Given the description of an element on the screen output the (x, y) to click on. 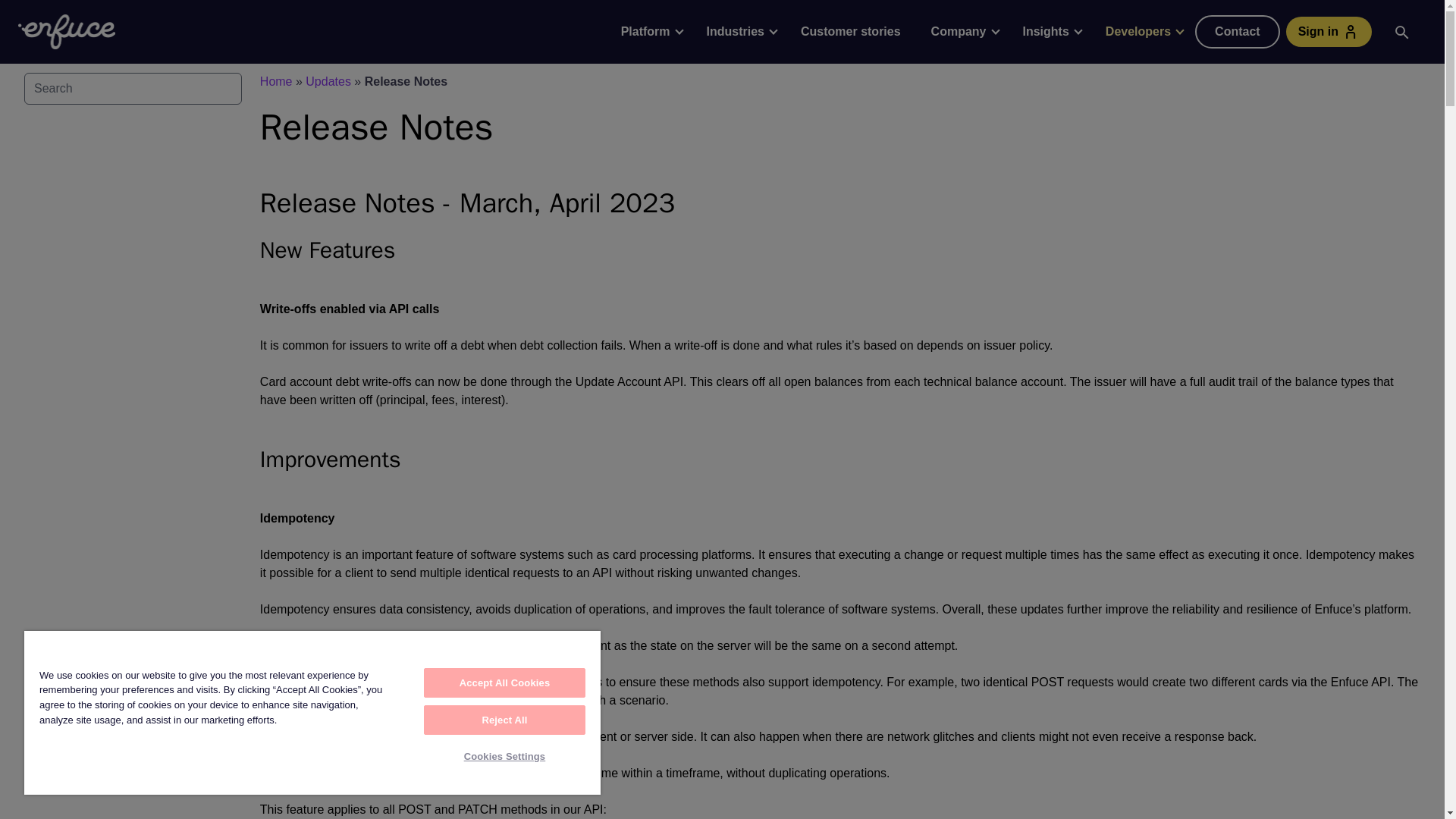
Press ? to search (132, 88)
